Given the description of an element on the screen output the (x, y) to click on. 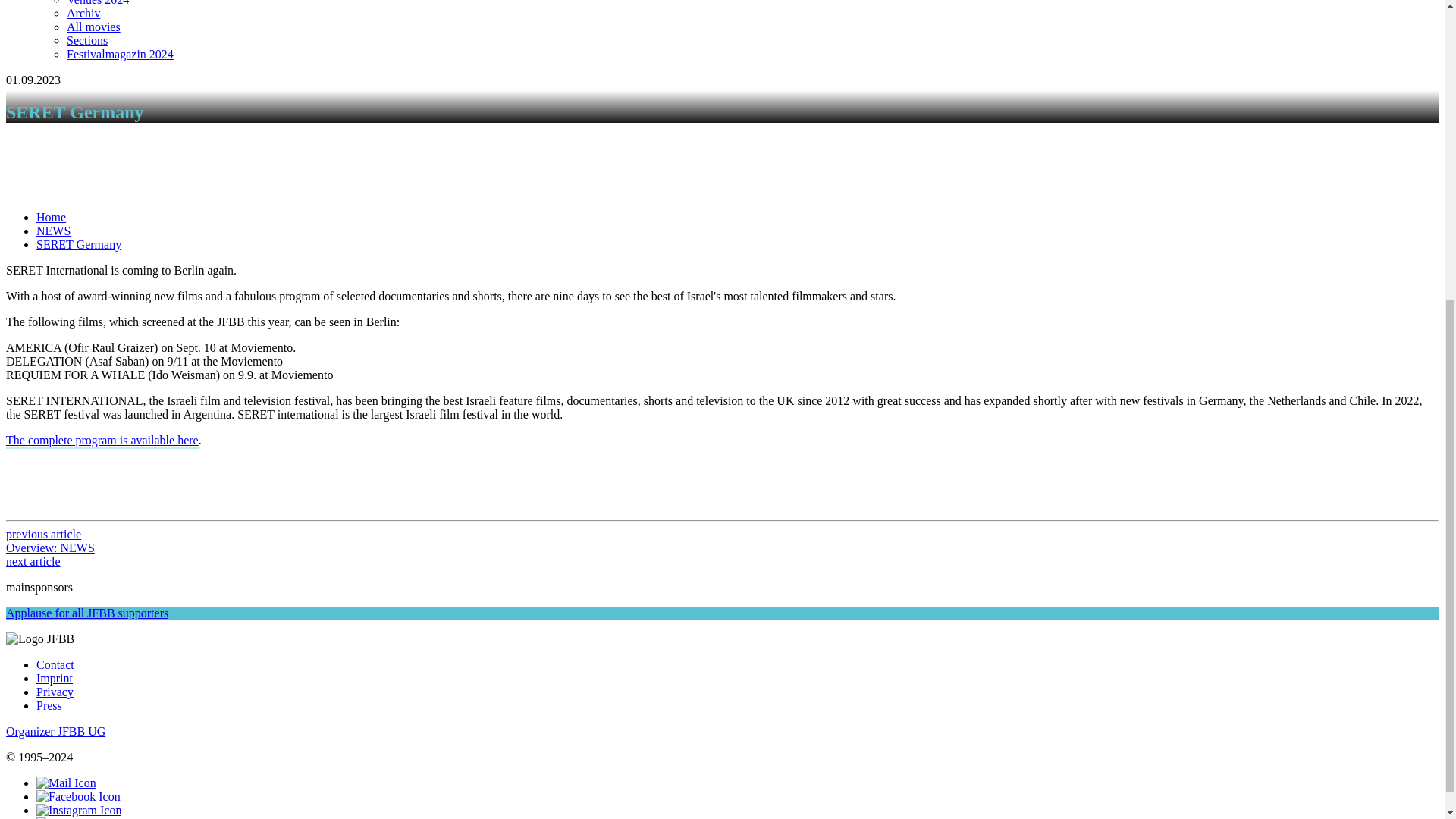
Venues 2024 (97, 2)
All movies (93, 26)
Home (50, 216)
Archiv (83, 12)
Festivalmagazin 2024 (119, 53)
Sections (86, 40)
NEWS (52, 230)
